Given the description of an element on the screen output the (x, y) to click on. 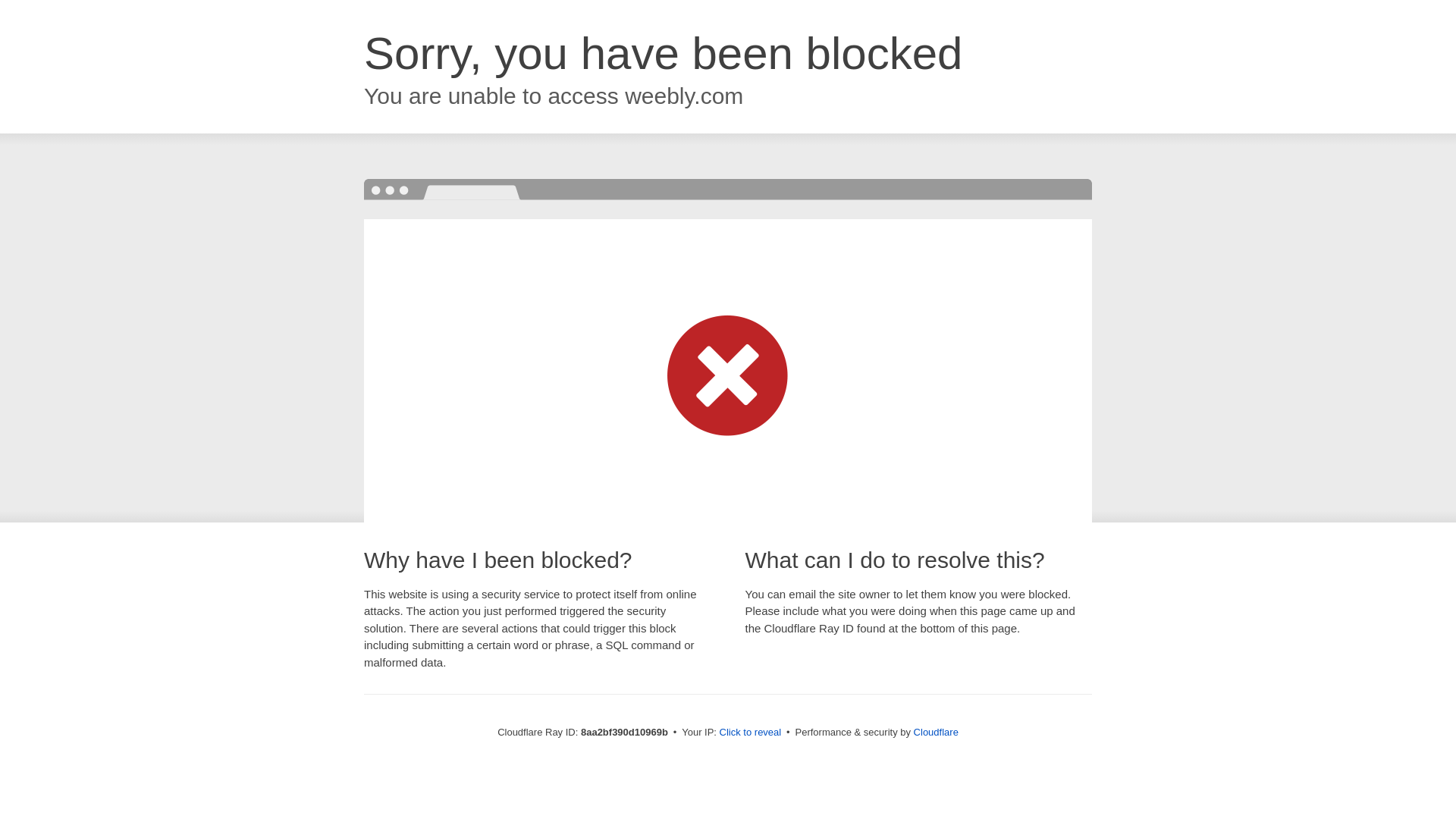
Cloudflare (936, 731)
Click to reveal (750, 732)
